Given the description of an element on the screen output the (x, y) to click on. 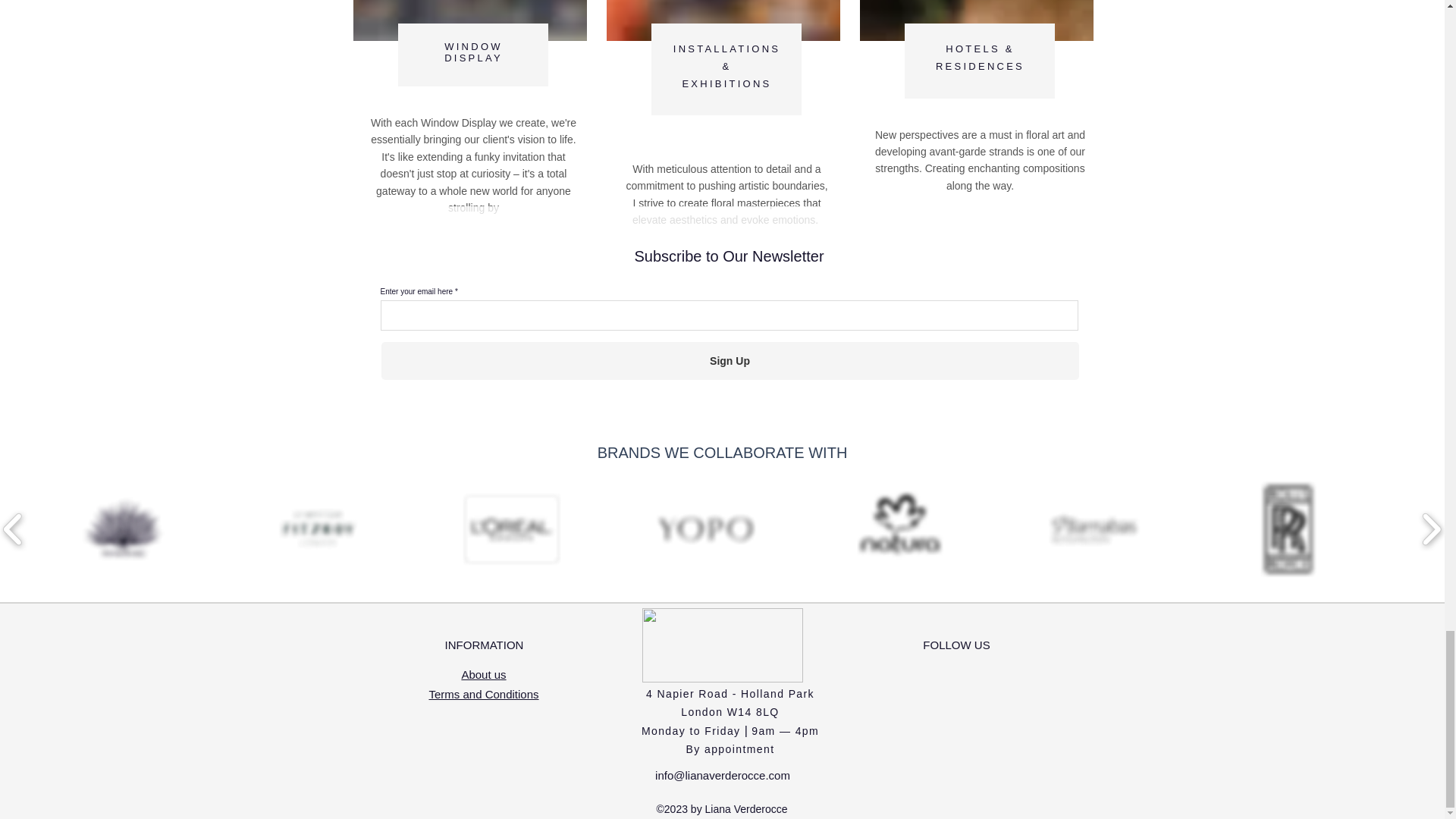
About us (483, 674)
Terms and Conditions (473, 51)
Sign Up (483, 694)
